Given the description of an element on the screen output the (x, y) to click on. 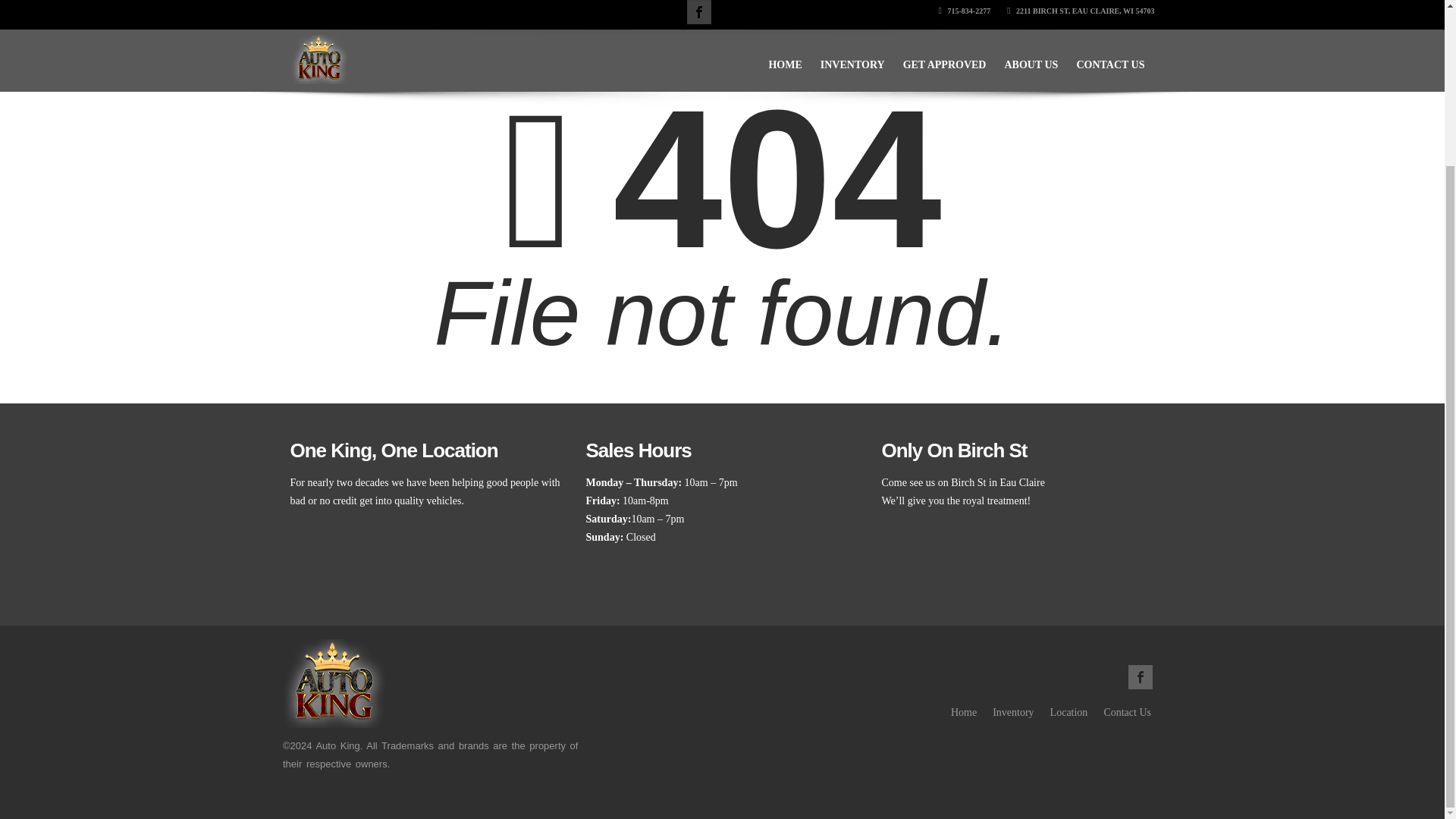
Contact Us (1127, 712)
Location (1068, 712)
Home (963, 712)
Inventory (1012, 712)
